Given the description of an element on the screen output the (x, y) to click on. 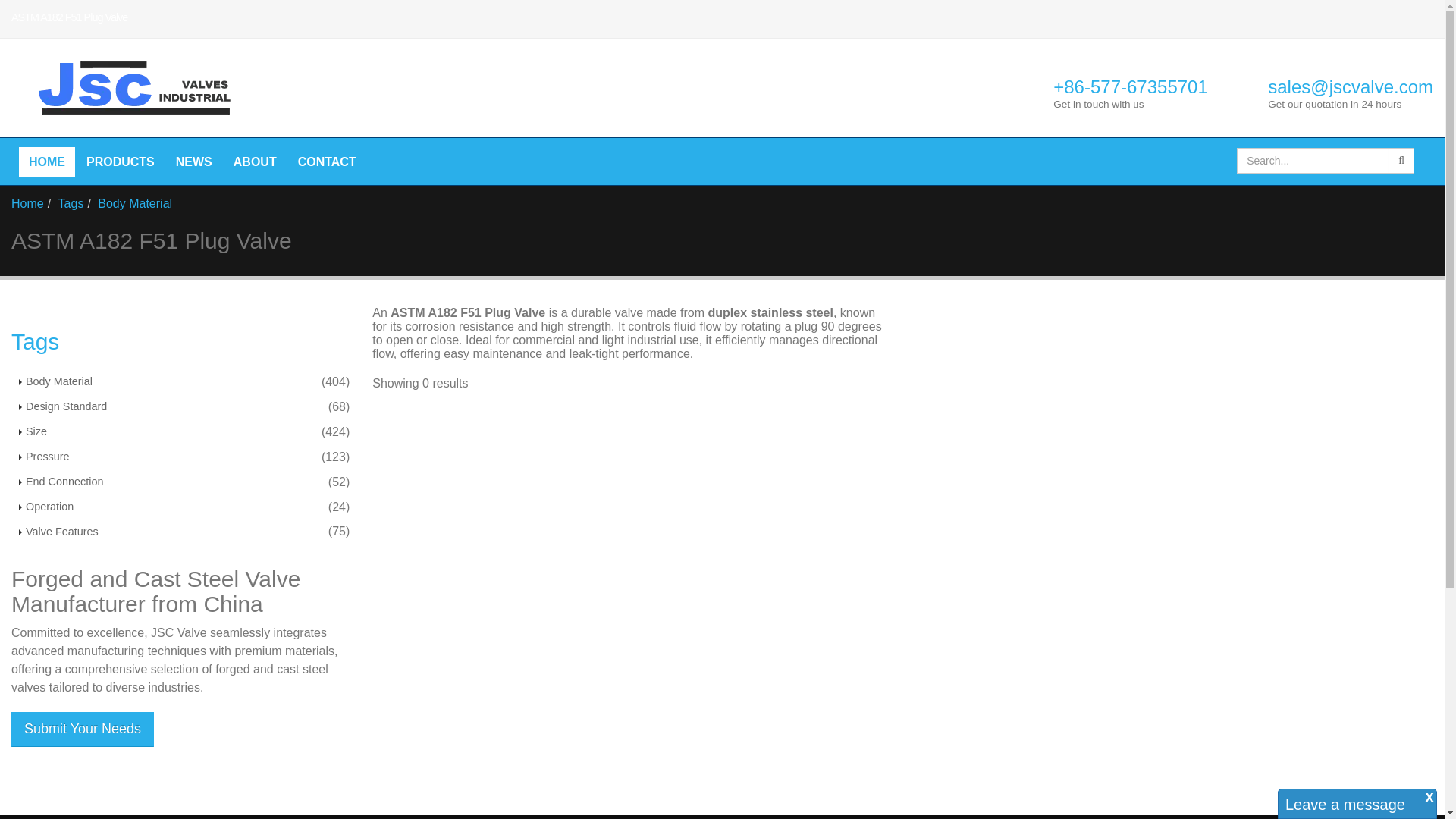
ABOUT (255, 162)
China Valve Manufacturer (124, 87)
PRODUCTS (120, 162)
HOME (46, 162)
Products (120, 162)
China Valve Manufacturer (130, 87)
NEWS (193, 162)
Home (46, 162)
